Given the description of an element on the screen output the (x, y) to click on. 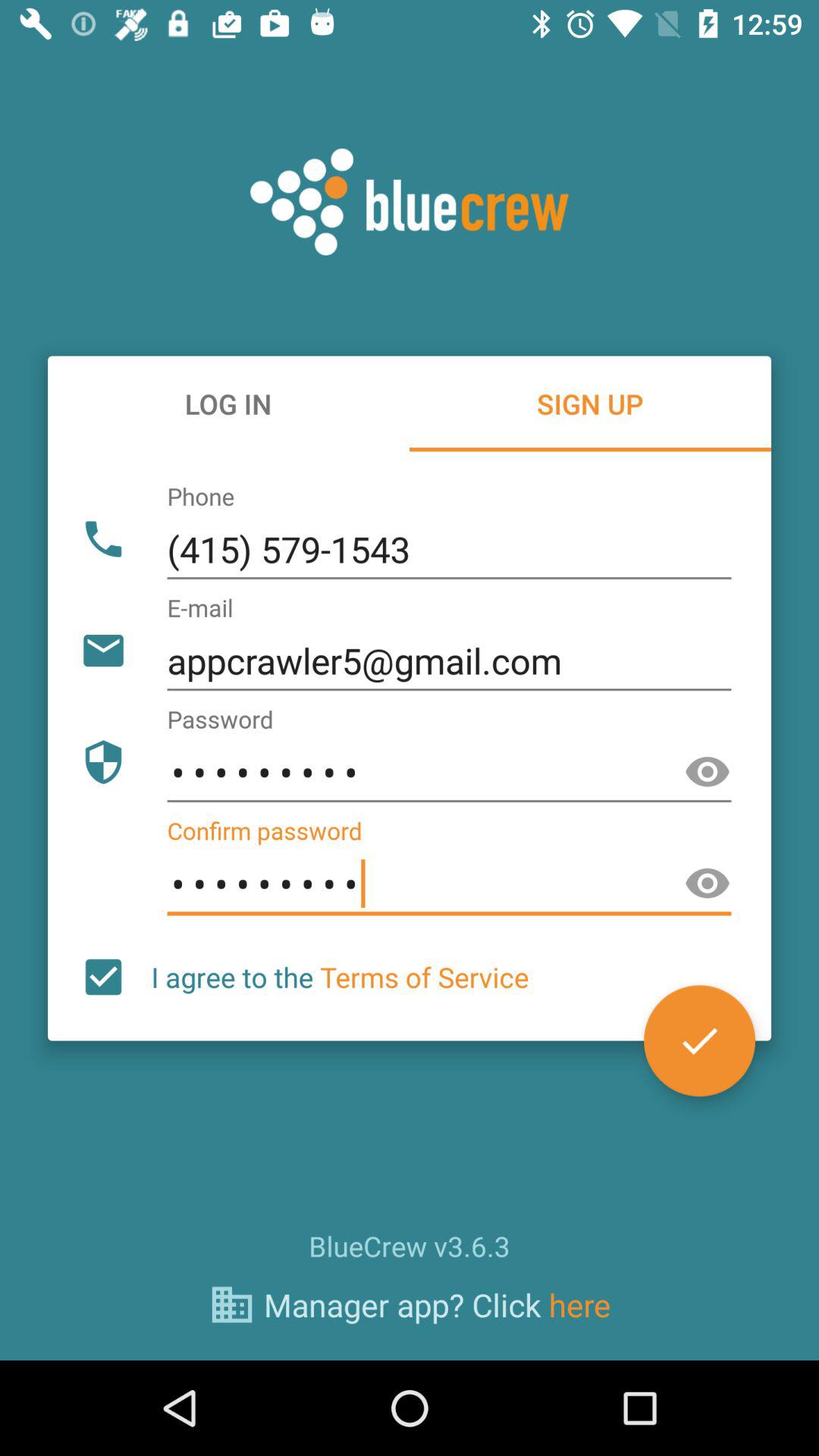
scroll until the appcrawler5@gmail.com item (449, 661)
